Given the description of an element on the screen output the (x, y) to click on. 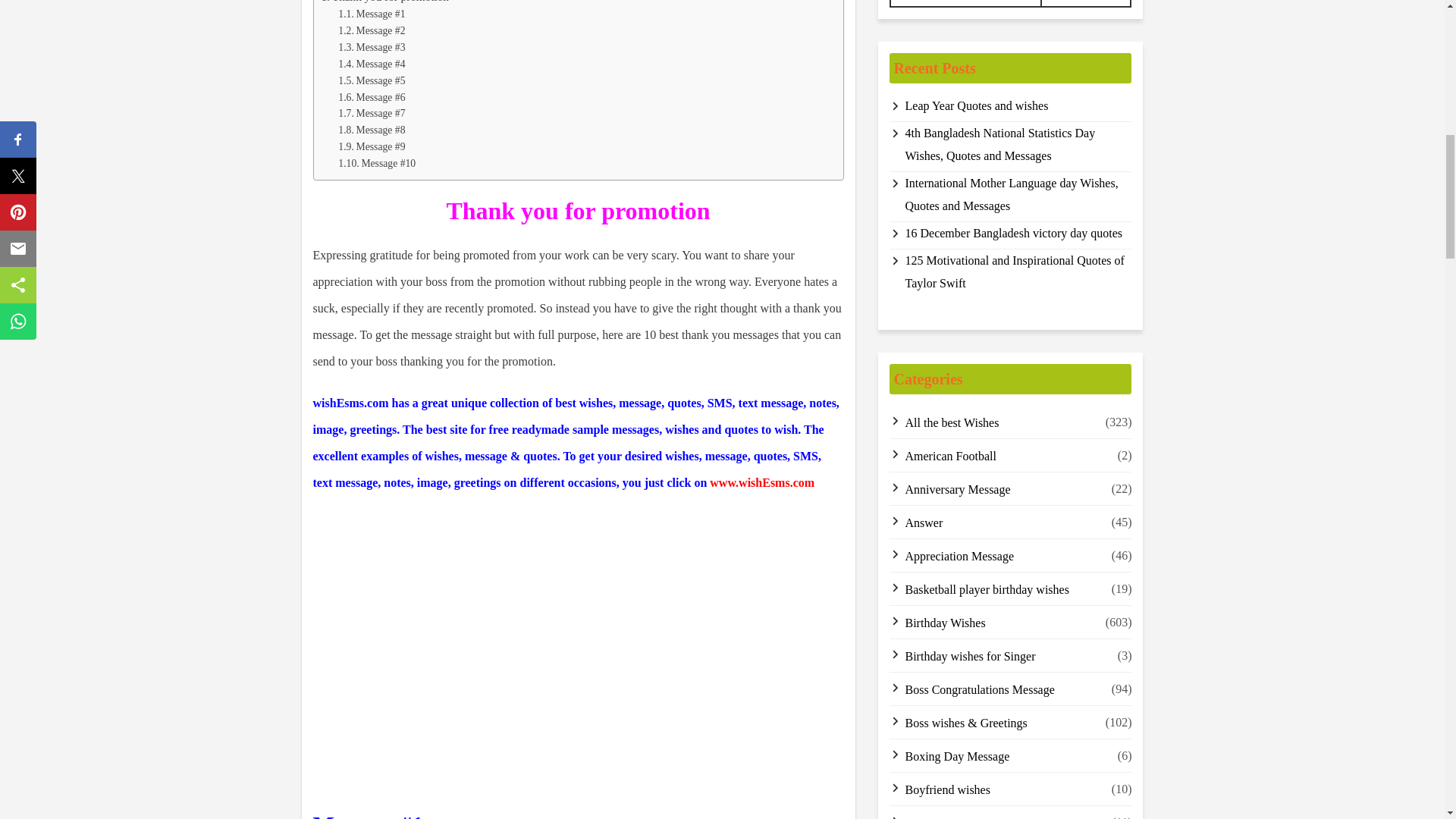
Thank you for promotion (384, 2)
Thank you for promotion (384, 2)
www.wishEsms.com (761, 481)
Search (1086, 3)
Search (1086, 3)
